Given the description of an element on the screen output the (x, y) to click on. 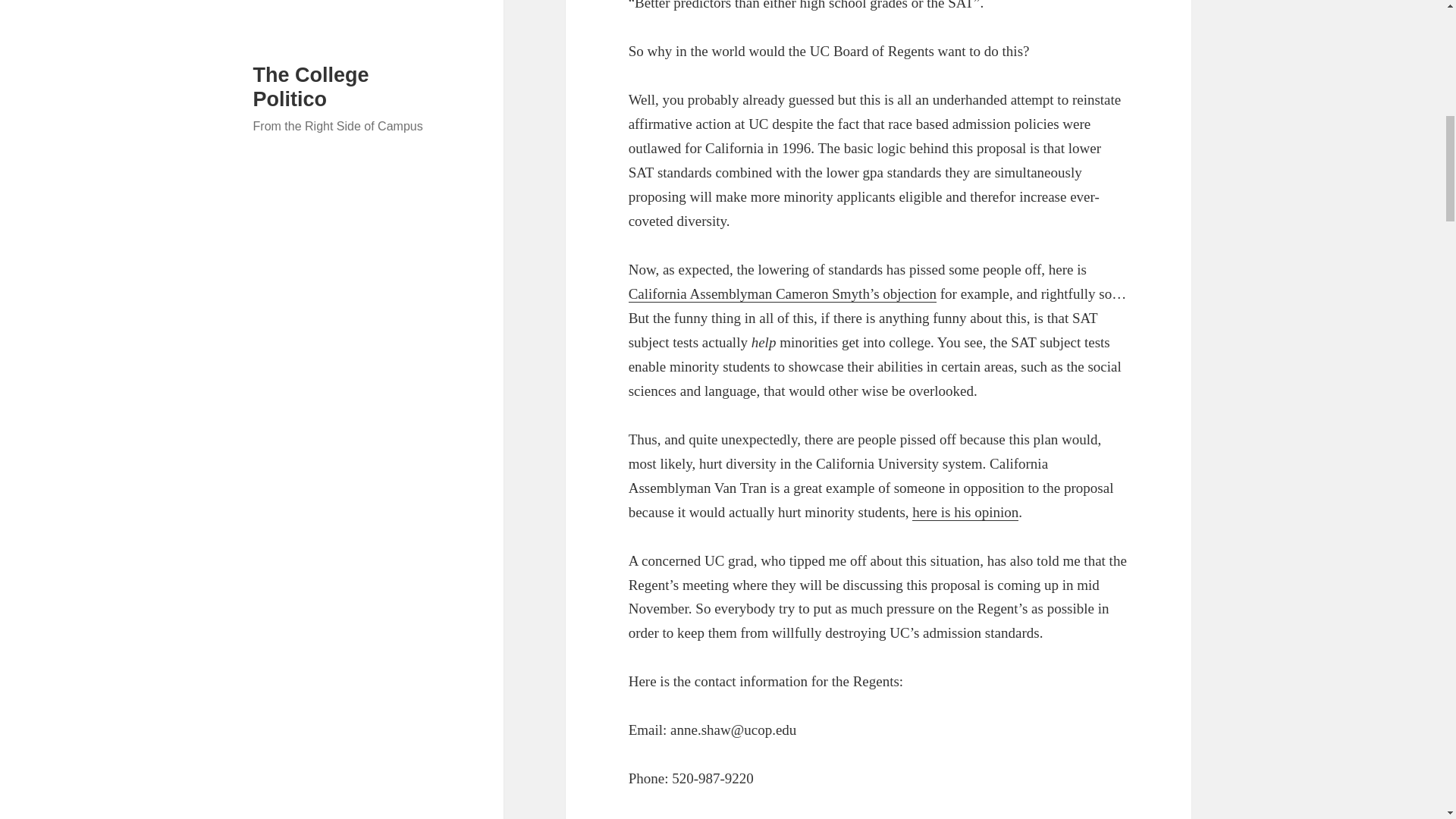
Not Happy (782, 293)
Not Happy Either (964, 512)
here is his opinion (964, 512)
